Given the description of an element on the screen output the (x, y) to click on. 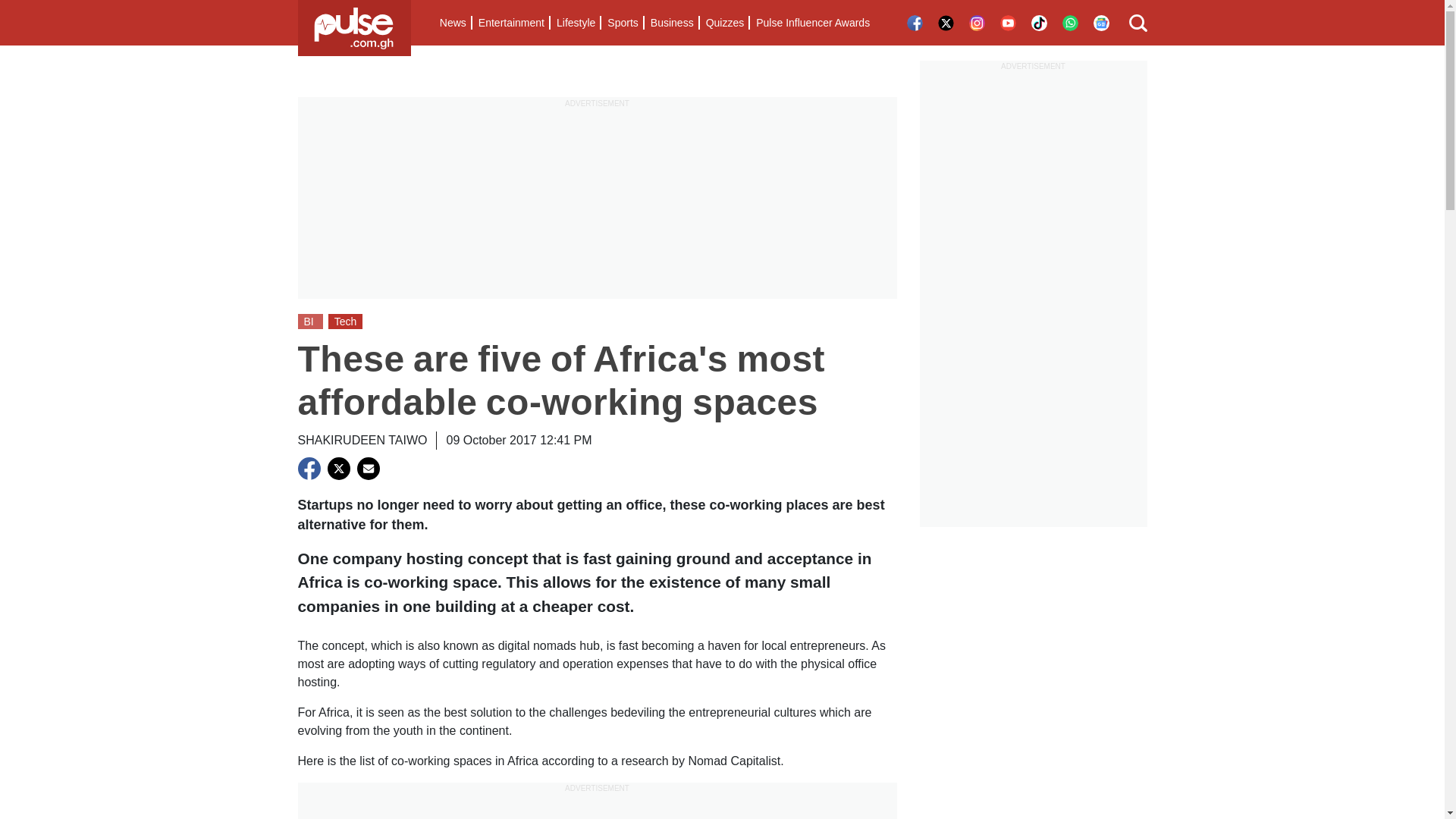
Business (672, 22)
Lifestyle (575, 22)
Entertainment (510, 22)
Sports (622, 22)
